Given the description of an element on the screen output the (x, y) to click on. 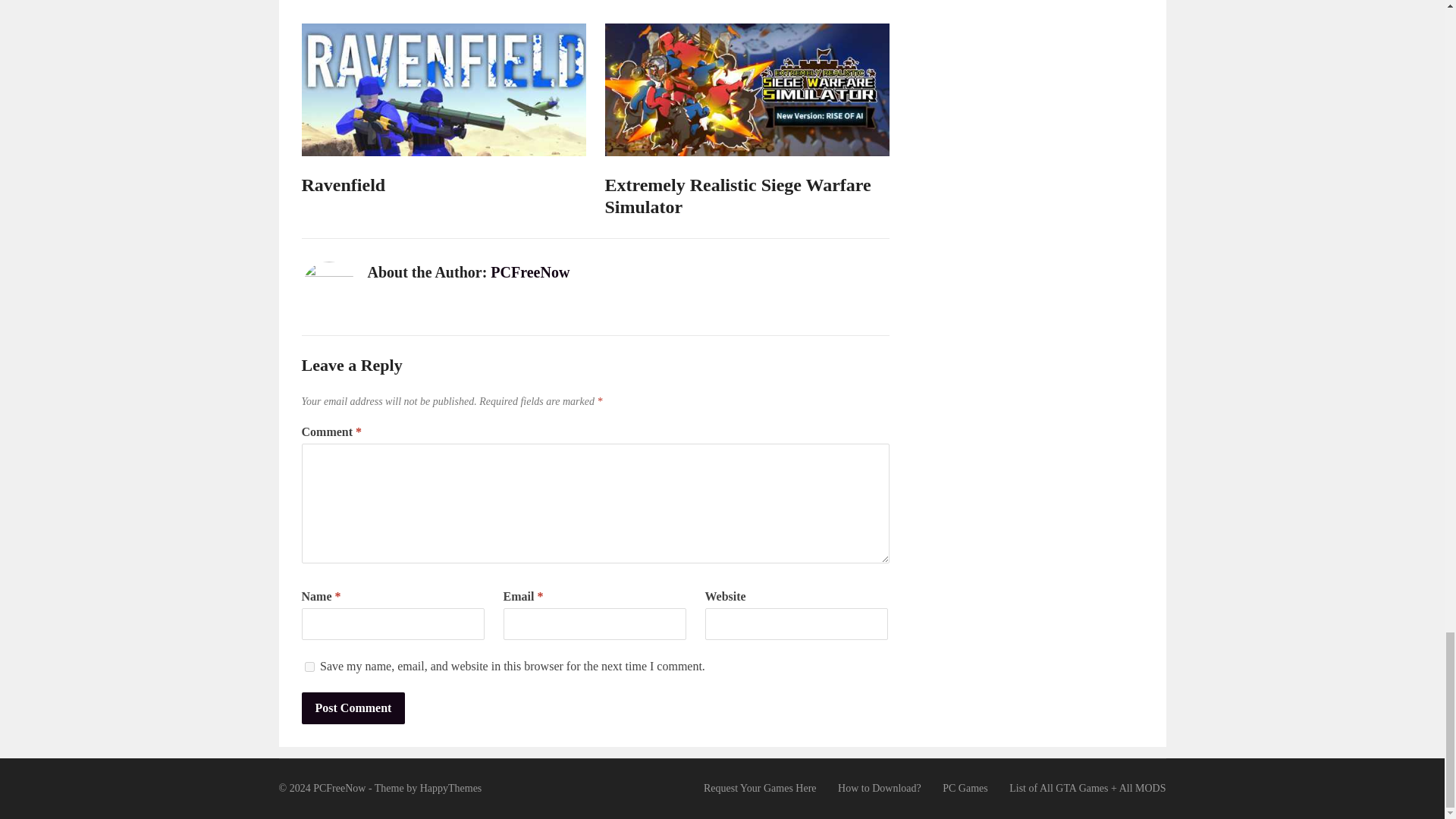
Post Comment (353, 707)
Extremely Realistic Siege Warfare Simulator (737, 196)
Ravenfield (343, 184)
yes (309, 666)
